Given the description of an element on the screen output the (x, y) to click on. 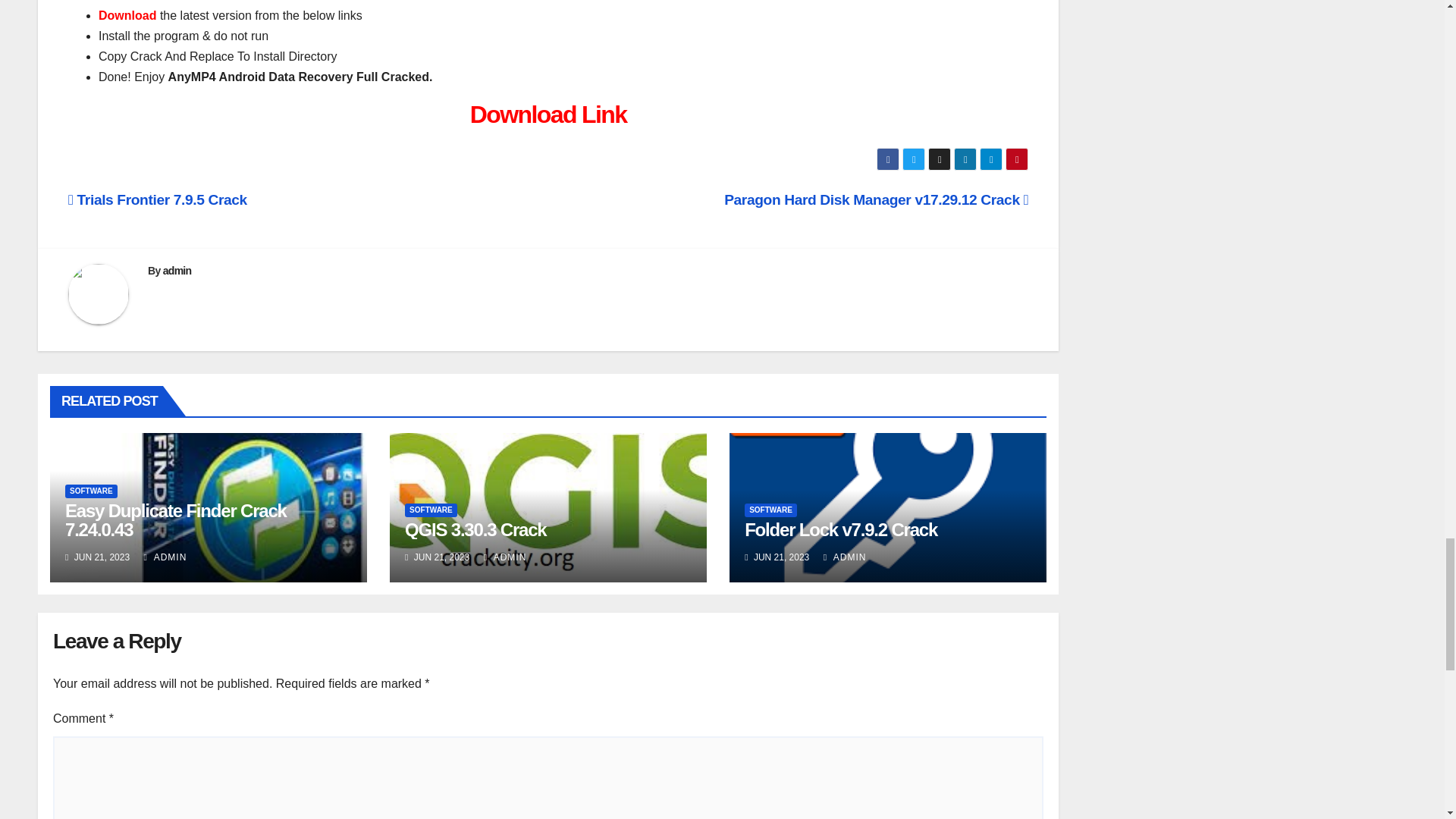
Download Link (548, 113)
Download (127, 15)
Permalink to: Easy Duplicate Finder Crack 7.24.0.43 (175, 519)
admin (177, 270)
Paragon Hard Disk Manager v17.29.12 Crack (875, 199)
Permalink to: Folder Lock v7.9.2 Crack (840, 529)
SOFTWARE (91, 490)
Permalink to: QGIS 3.30.3 Crack (475, 529)
Trials Frontier 7.9.5 Crack (157, 199)
Easy Duplicate Finder Crack 7.24.0.43 (175, 519)
